Given the description of an element on the screen output the (x, y) to click on. 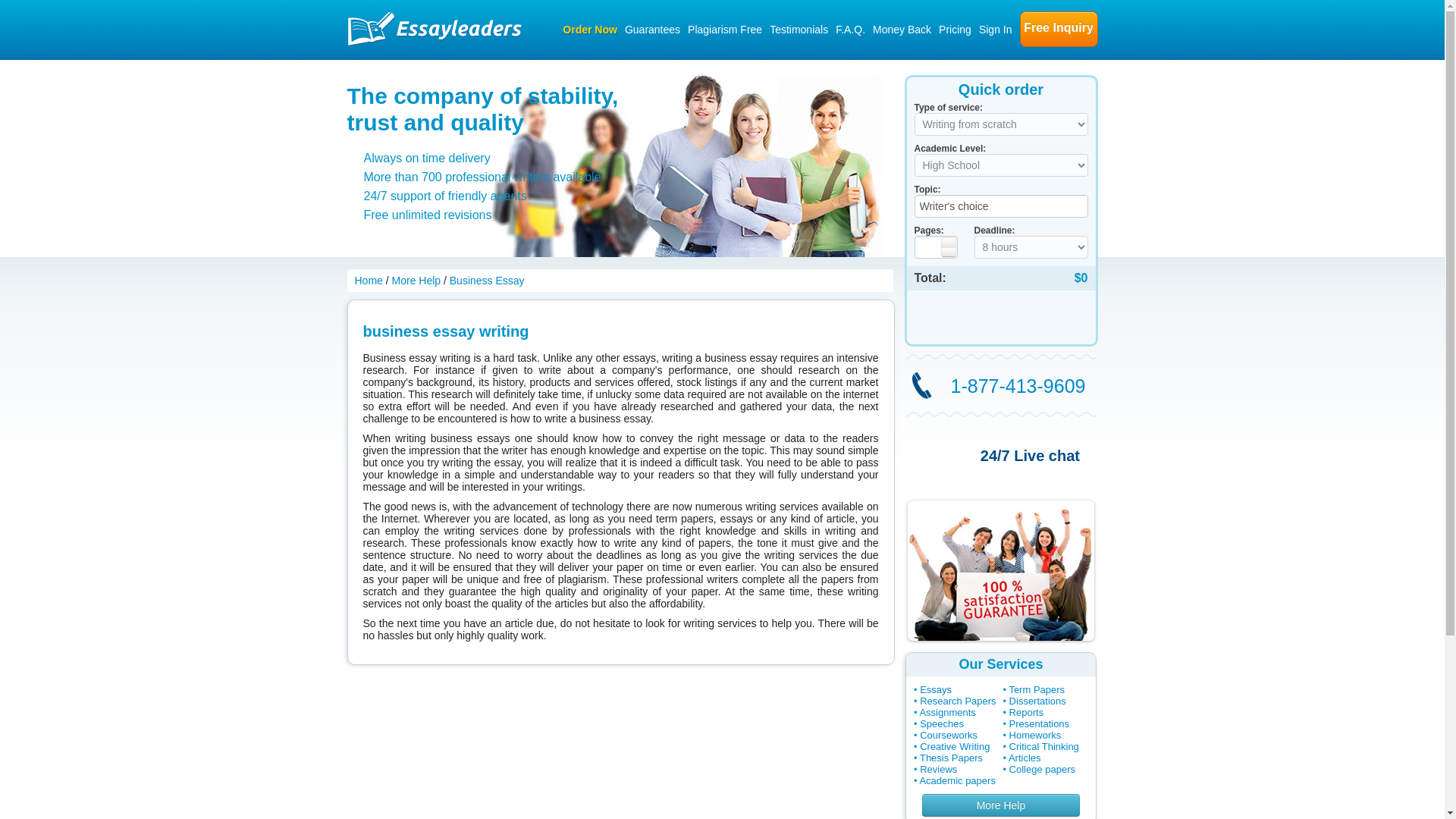
More Help (999, 804)
writing services (1000, 384)
Critical Thinking (1043, 746)
College papers (1042, 768)
professional writing services (1000, 570)
Thesis Papers (951, 757)
Home (370, 280)
Money Back (901, 29)
Dissertations (1037, 700)
Essays (936, 689)
